Given the description of an element on the screen output the (x, y) to click on. 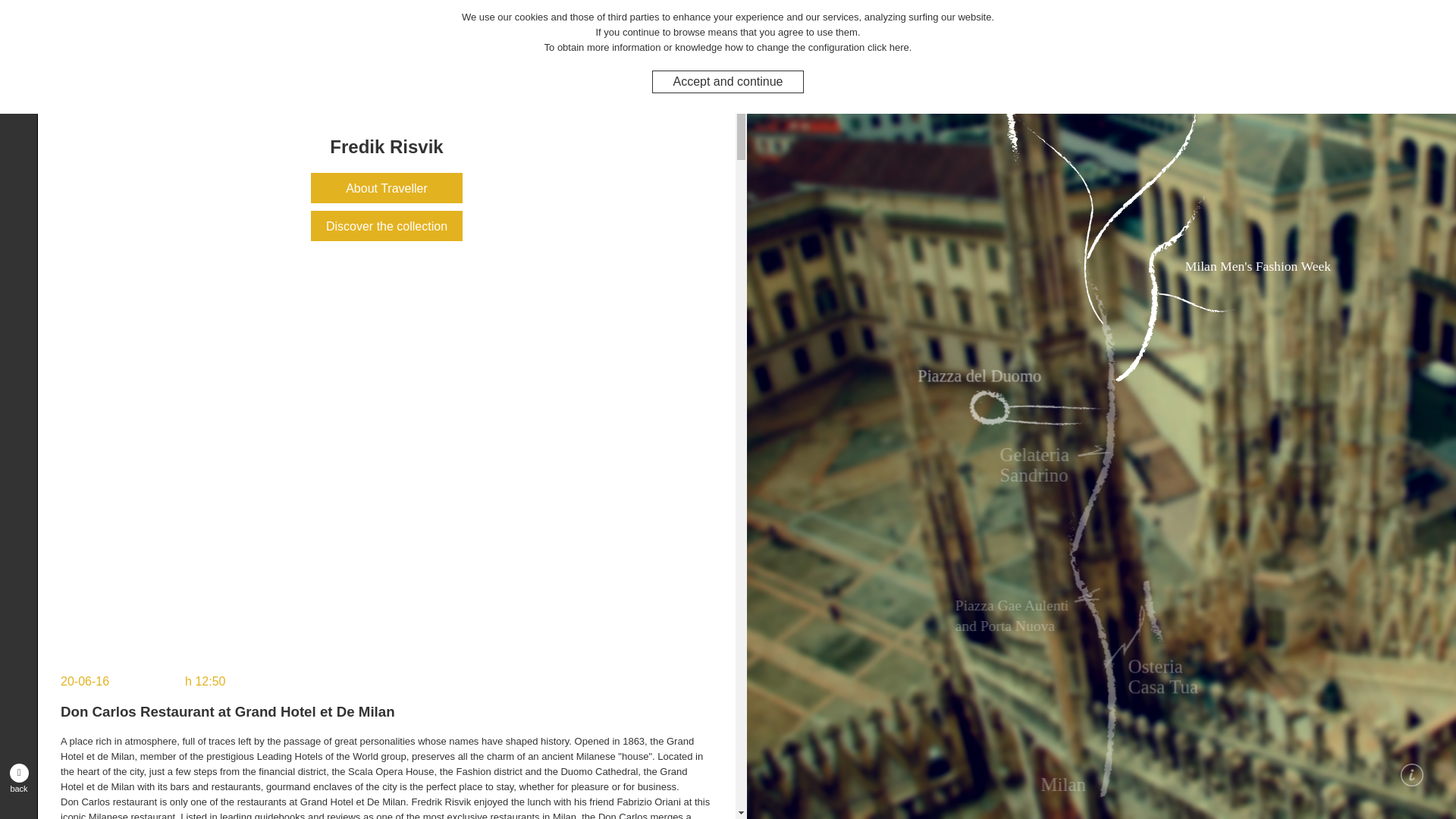
The Journey (18, 177)
Cities (18, 238)
Collection (18, 268)
Back (18, 777)
Social Board (18, 299)
back (18, 777)
Mandarina Duck (18, 147)
Newsletter (18, 329)
click here. (889, 47)
Travellers (18, 208)
Back to Home (18, 77)
Accept and continue (727, 81)
